Given the description of an element on the screen output the (x, y) to click on. 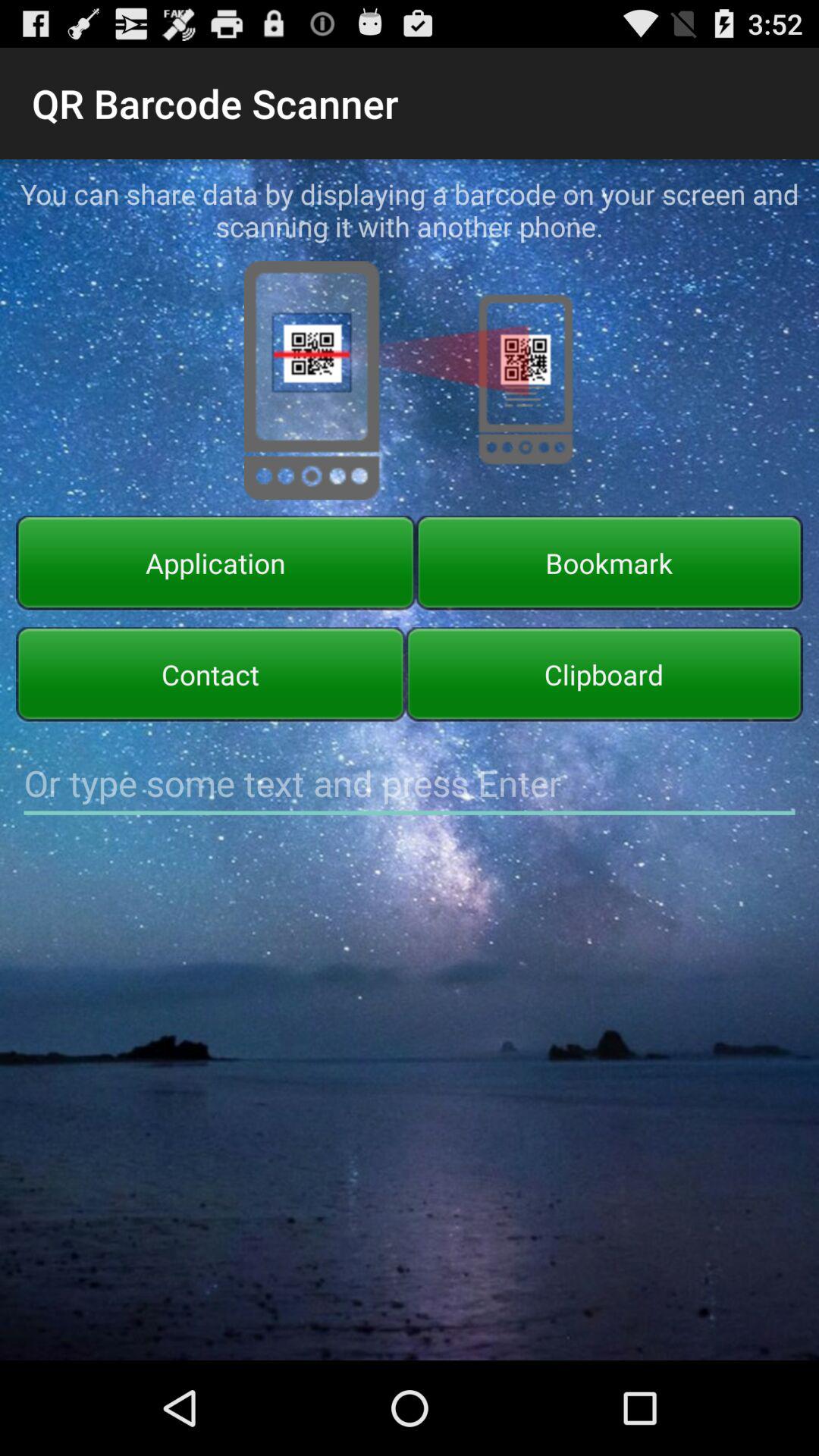
enter text (409, 783)
